Given the description of an element on the screen output the (x, y) to click on. 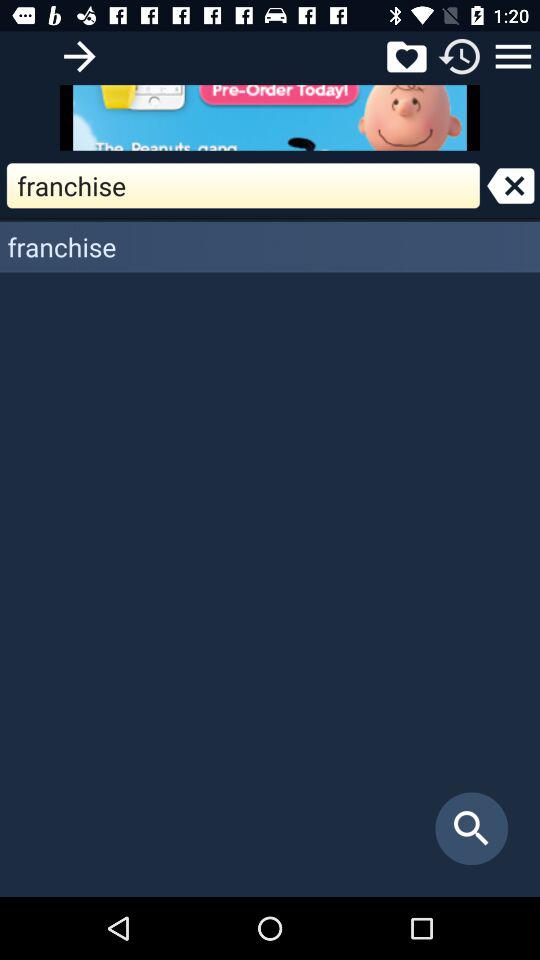
wishlist icon (406, 56)
